Given the description of an element on the screen output the (x, y) to click on. 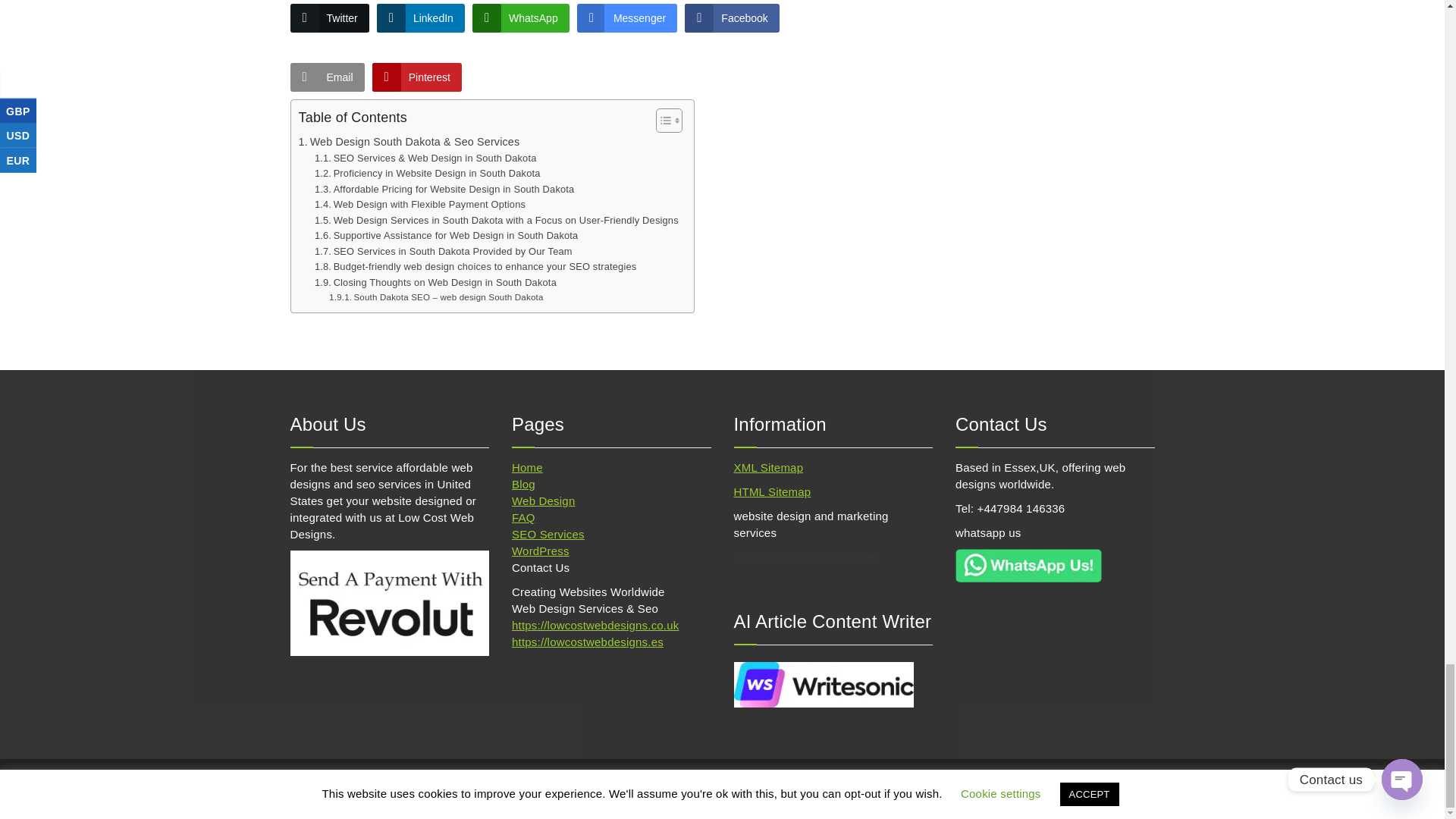
Supportive Assistance for Web Design in South Dakota (446, 236)
Proficiency in Website Design in South Dakota (427, 173)
Closing Thoughts on Web Design in South Dakota (435, 283)
Web Design with Flexible Payment Options (419, 204)
SEO Services in South Dakota Provided by Our Team (443, 252)
Affordable Pricing for Website Design in South Dakota (444, 189)
